Given the description of an element on the screen output the (x, y) to click on. 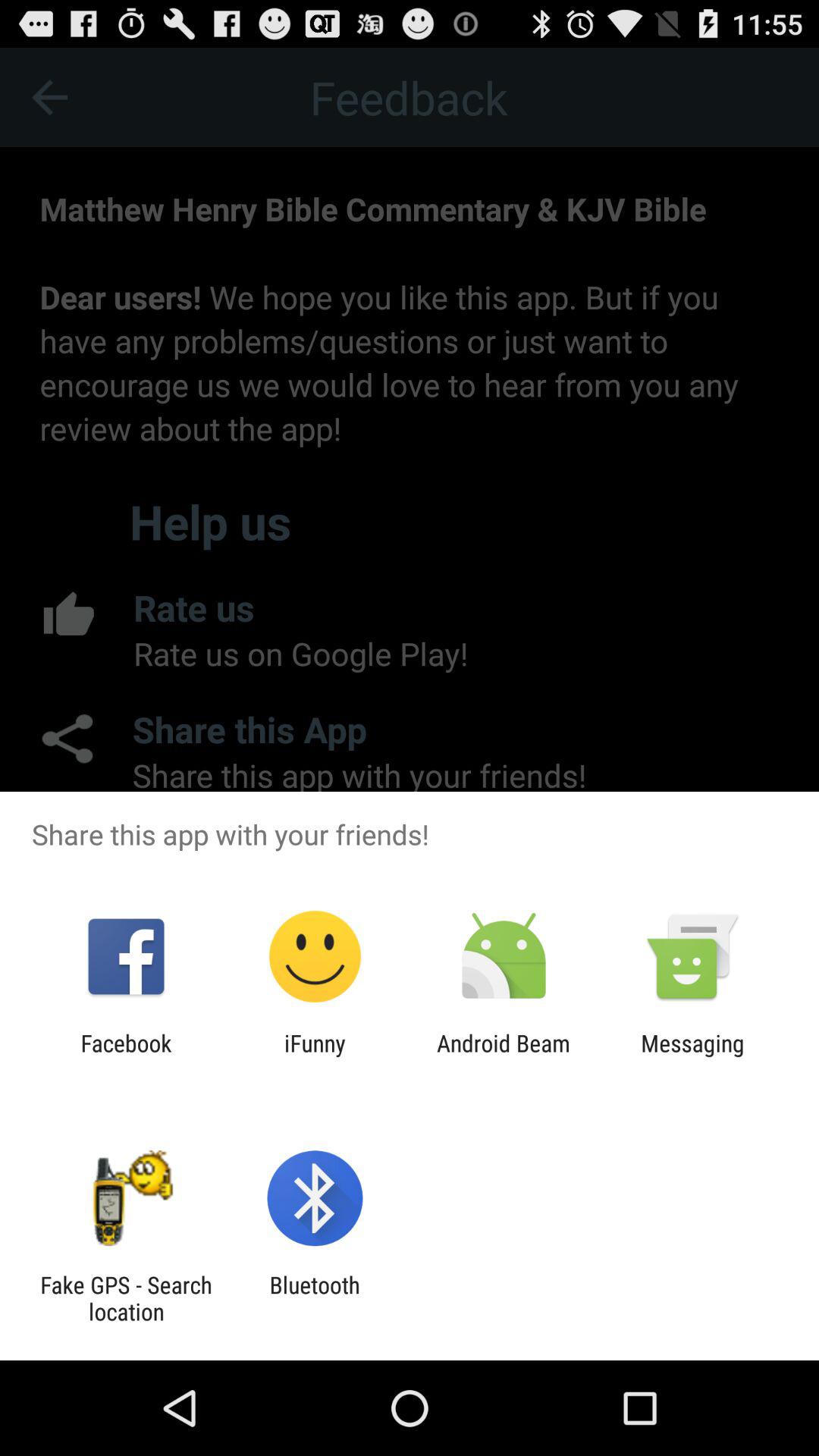
scroll until messaging (692, 1056)
